Given the description of an element on the screen output the (x, y) to click on. 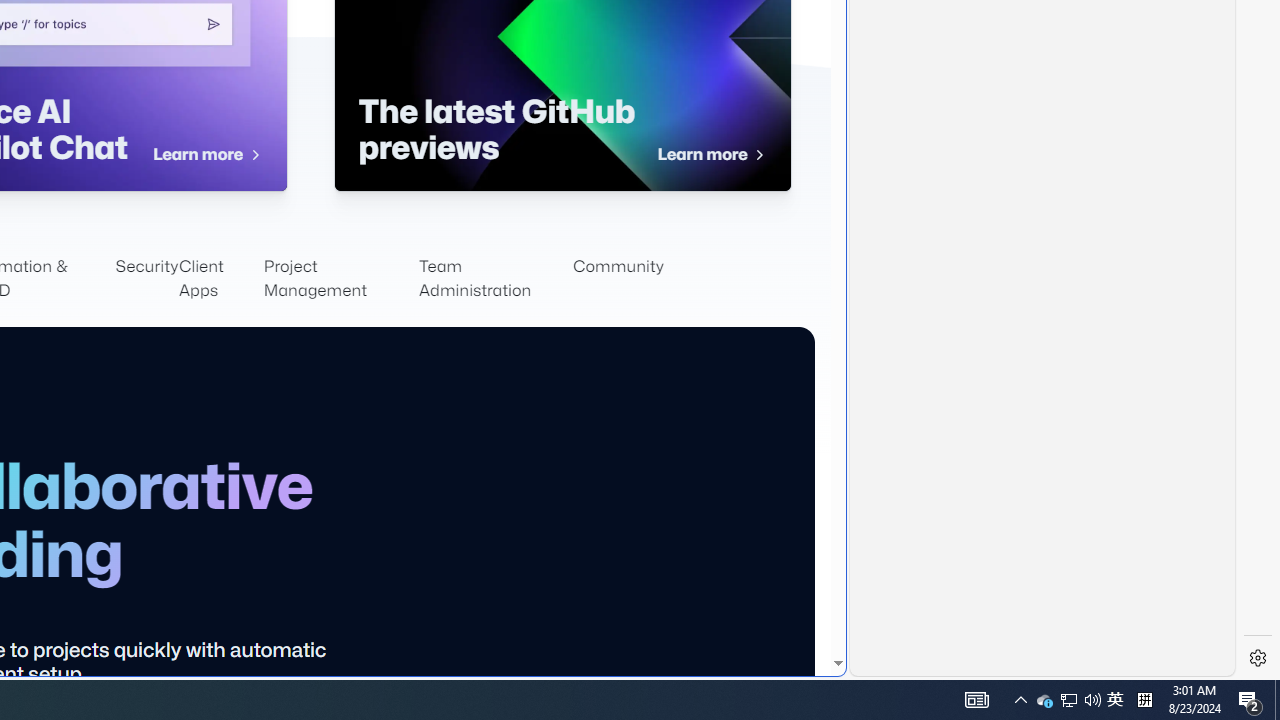
Project Management (340, 278)
Q2790: 100% (1092, 699)
Notification Chevron (1020, 699)
Community (1044, 699)
Security (618, 278)
Client Apps (1115, 699)
AutomationID: 4105 (147, 278)
Team Administration (1069, 699)
Show desktop (220, 278)
User Promoted Notification Area (976, 699)
